Given the description of an element on the screen output the (x, y) to click on. 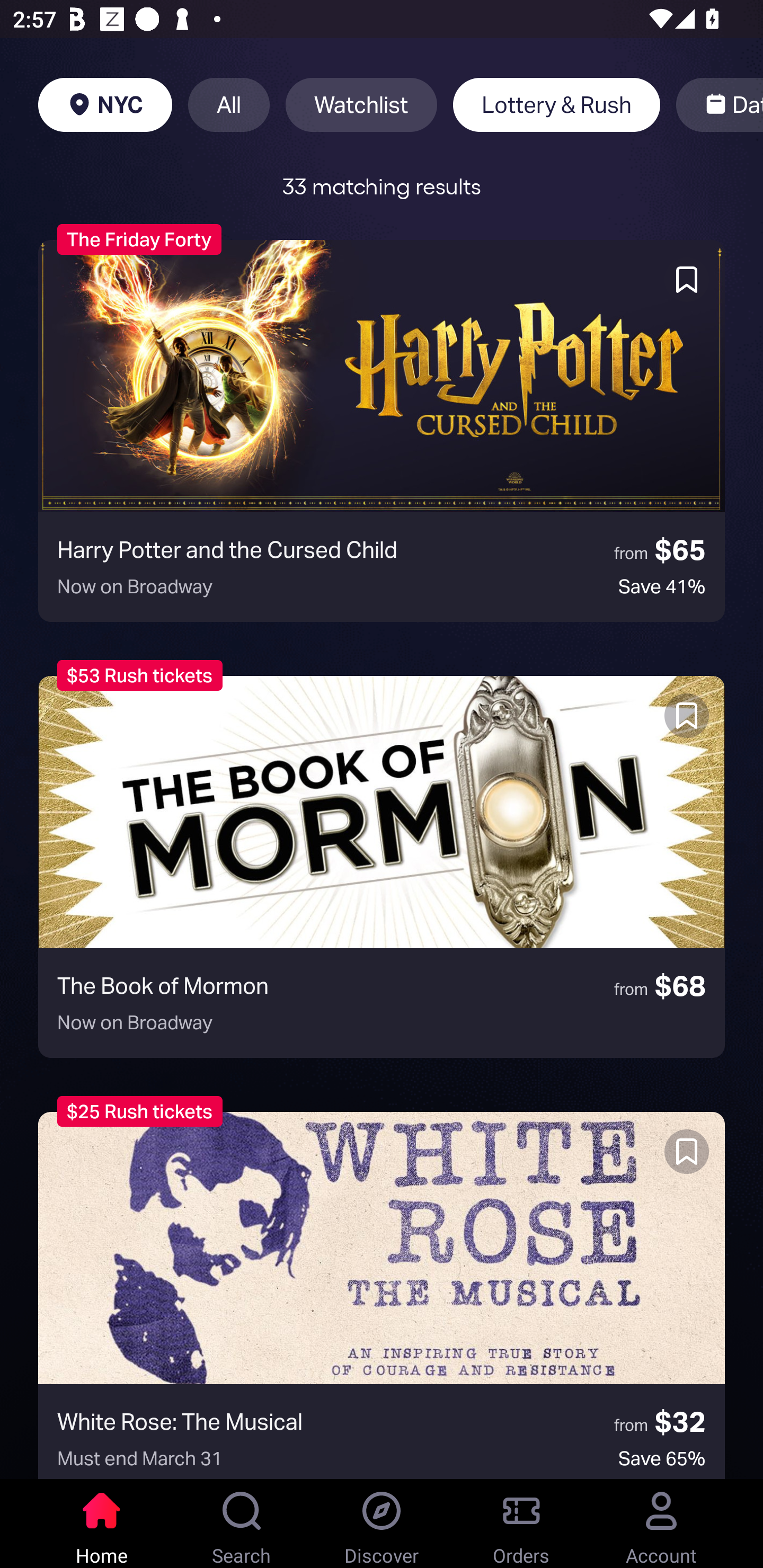
NYC (105, 104)
All (228, 104)
Watchlist (361, 104)
Lottery & Rush (556, 104)
The Book of Mormon from $68 Now on Broadway (381, 866)
Search (241, 1523)
Discover (381, 1523)
Orders (521, 1523)
Account (660, 1523)
